Given the description of an element on the screen output the (x, y) to click on. 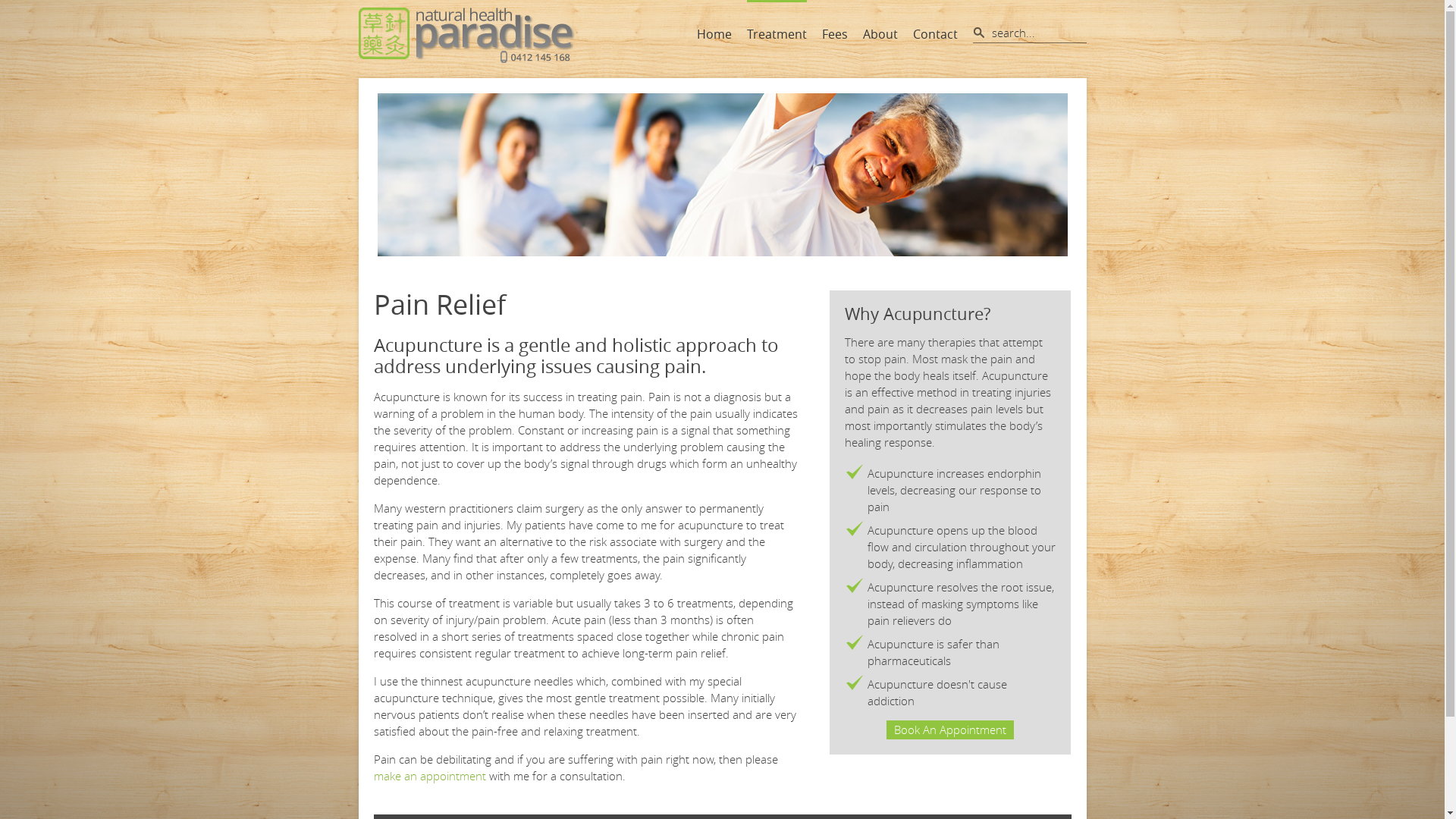
Treatment Element type: text (776, 33)
Pain Relief Element type: hover (722, 174)
Book An Appointment Element type: text (949, 729)
make an appointment Element type: text (429, 775)
Fees Element type: text (834, 33)
Home Element type: text (713, 33)
Reset Element type: text (3, 3)
Contact Element type: text (935, 33)
About Element type: text (879, 33)
